Given the description of an element on the screen output the (x, y) to click on. 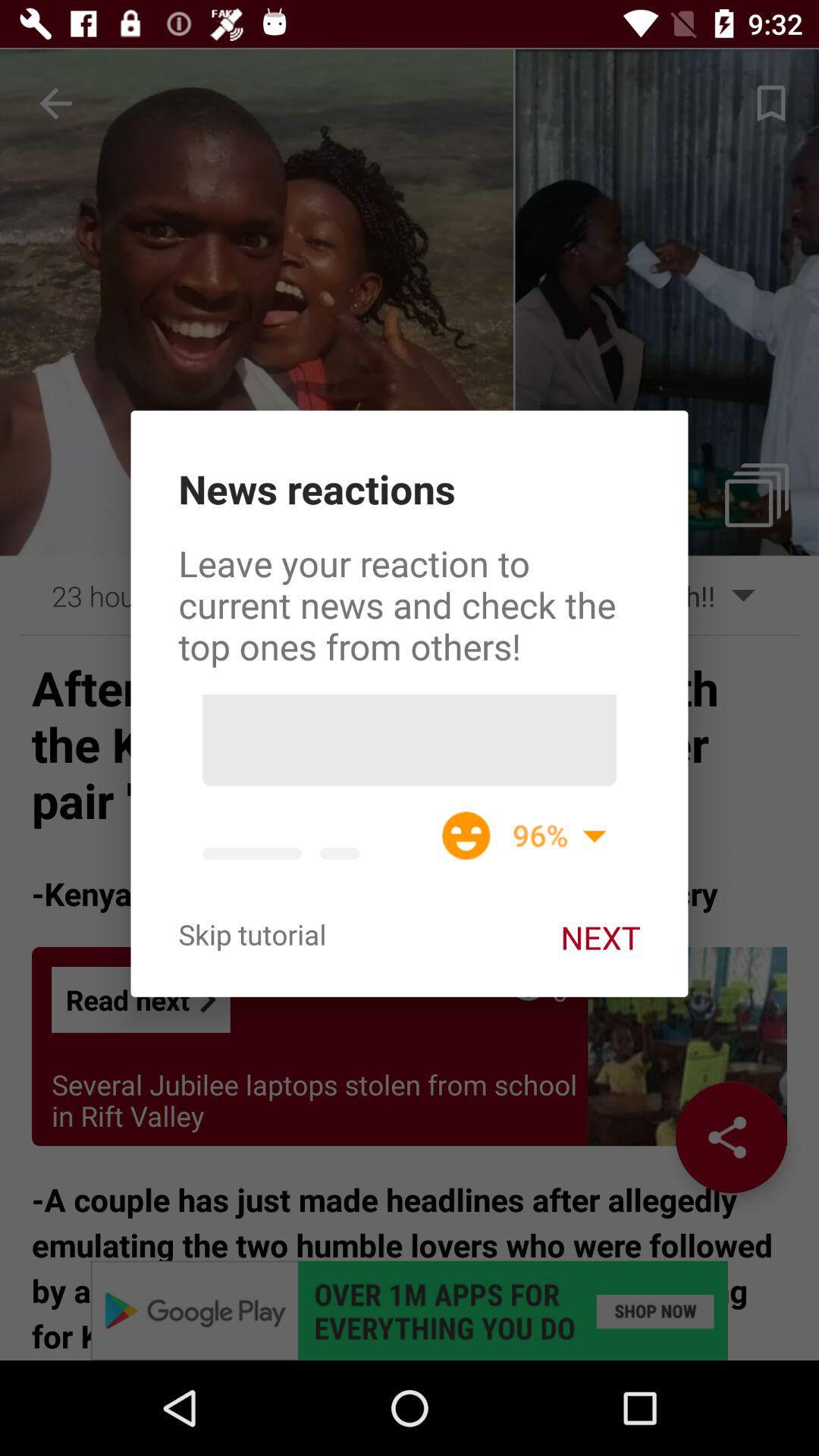
press skip tutorial (252, 934)
